Given the description of an element on the screen output the (x, y) to click on. 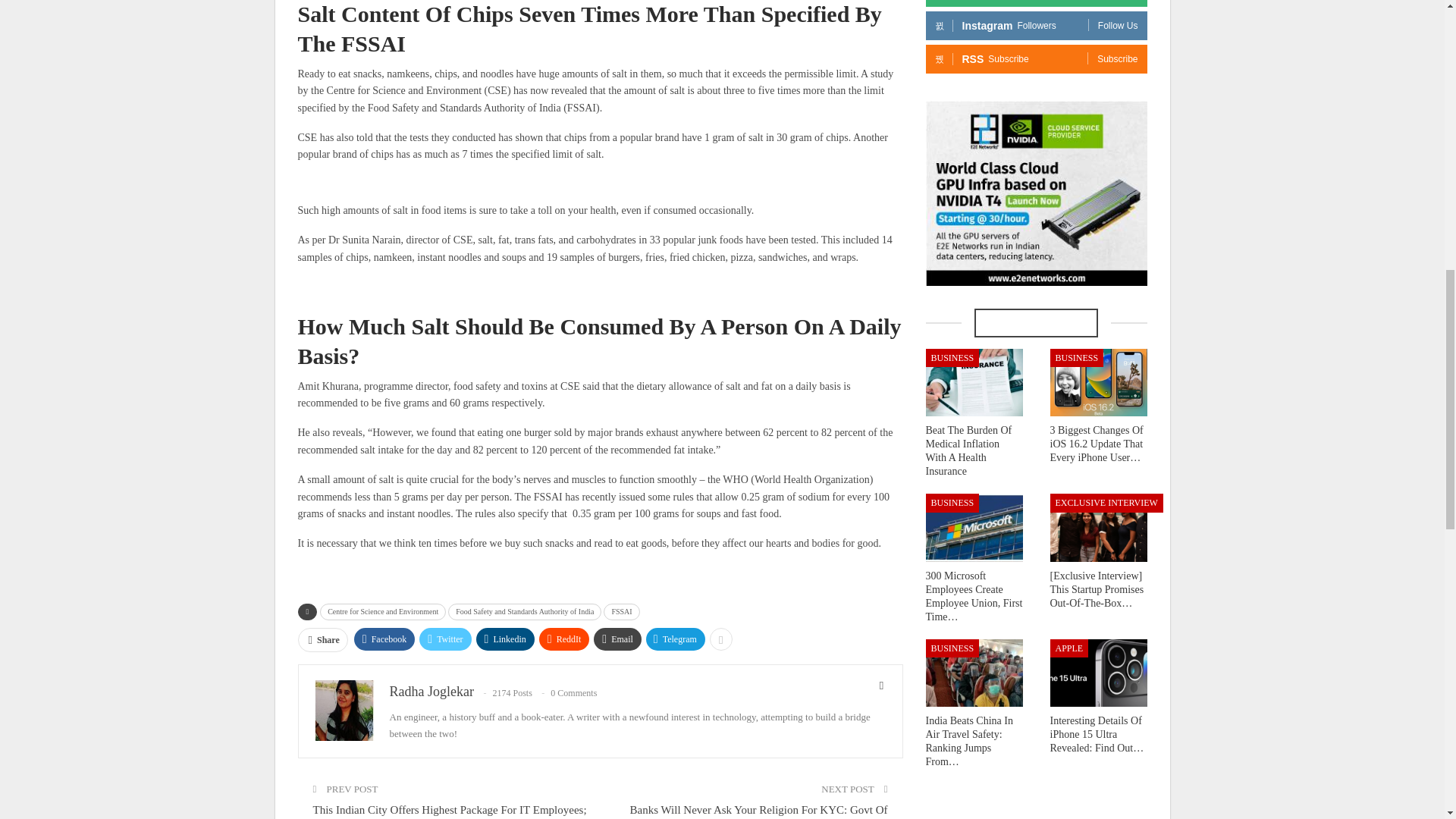
FSSAI (621, 611)
Food Safety and Standards Authority of India (524, 611)
Centre for Science and Environment (382, 611)
